Given the description of an element on the screen output the (x, y) to click on. 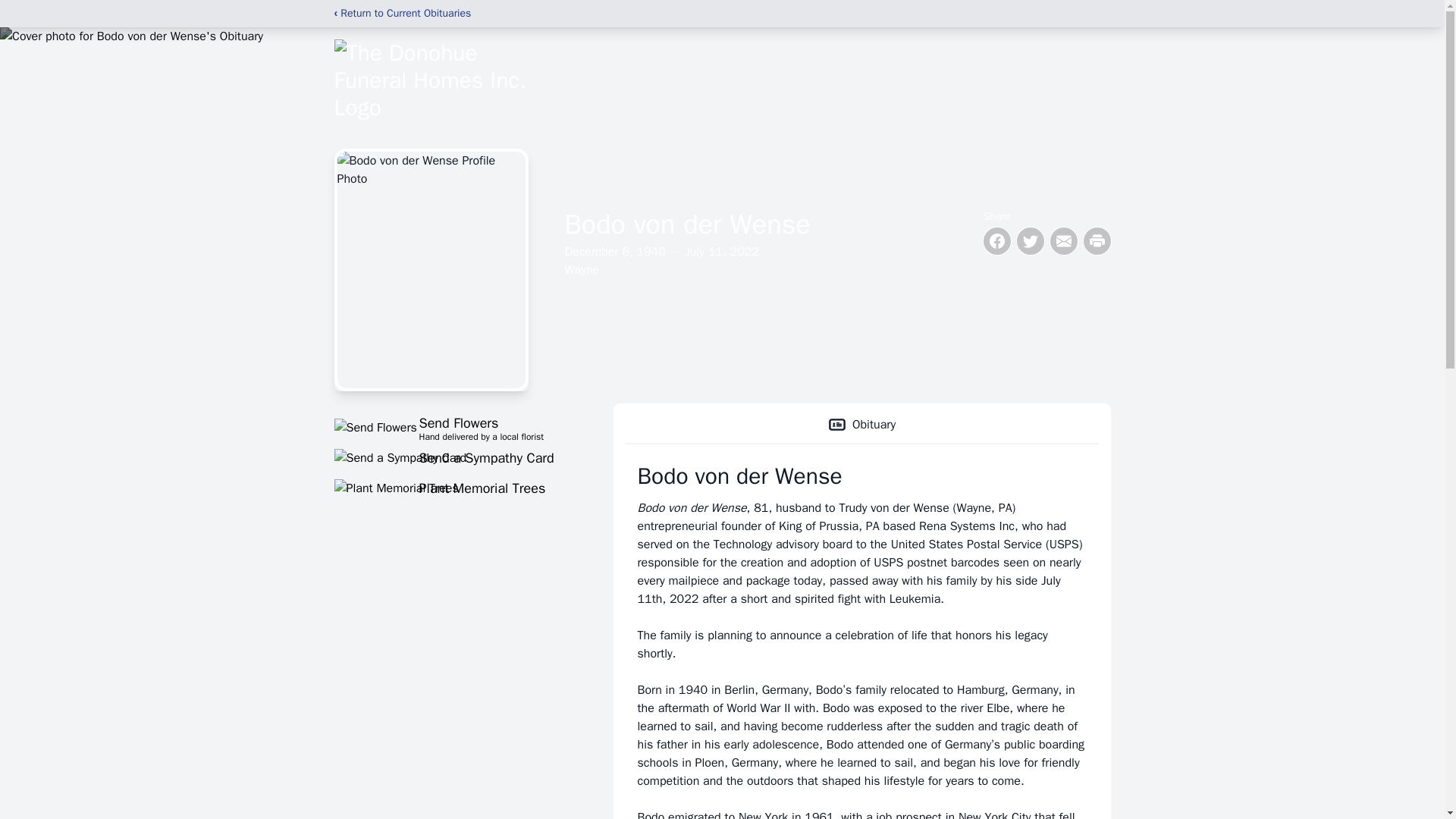
Obituary (860, 425)
Send a Sympathy Card (454, 457)
Plant Memorial Trees (454, 488)
